Given the description of an element on the screen output the (x, y) to click on. 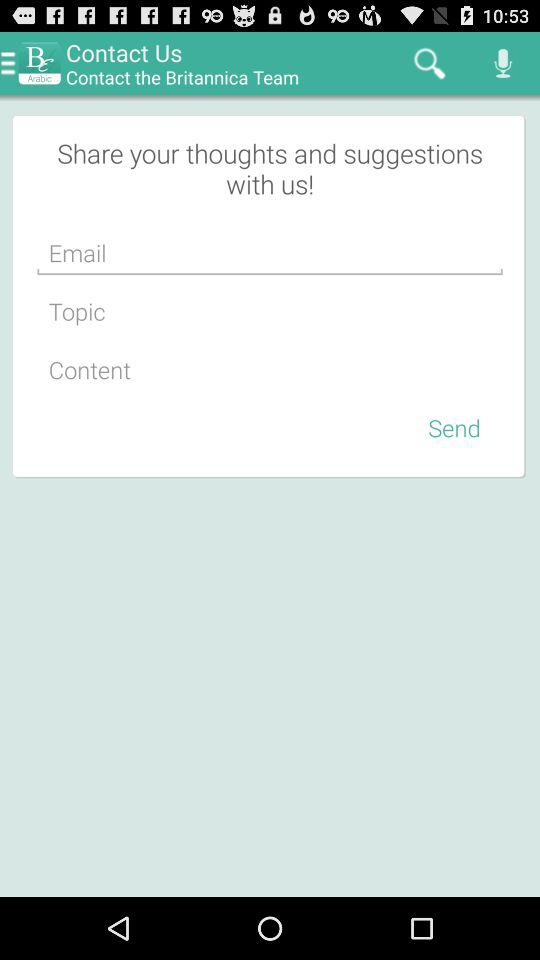
tap the item to the right of contact the britannica (429, 62)
